Given the description of an element on the screen output the (x, y) to click on. 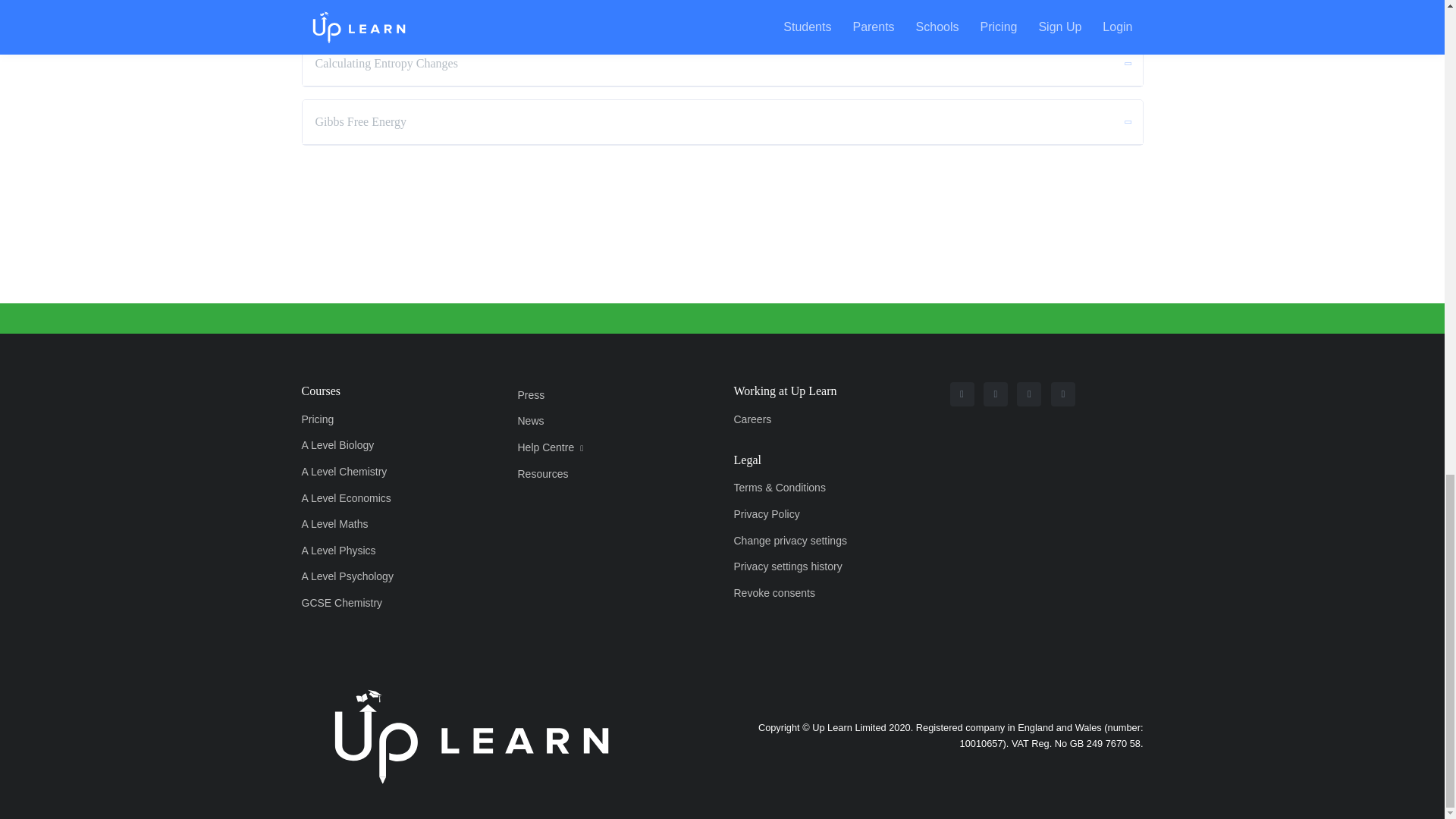
A Level Chemistry (362, 471)
GCSE Chemistry (362, 602)
A Level Psychology (362, 577)
Google (1063, 394)
Gibbs Free Energy (721, 121)
A Microscopic, Mathematical Definition of Entropy (721, 13)
Pricing (362, 419)
Facebook (995, 394)
Calculating Entropy Changes (721, 63)
A Level Economics (362, 498)
A Level Physics (362, 550)
A Level Biology (362, 446)
Instagram (961, 394)
A Level Maths (362, 524)
Twitter (1028, 394)
